Given the description of an element on the screen output the (x, y) to click on. 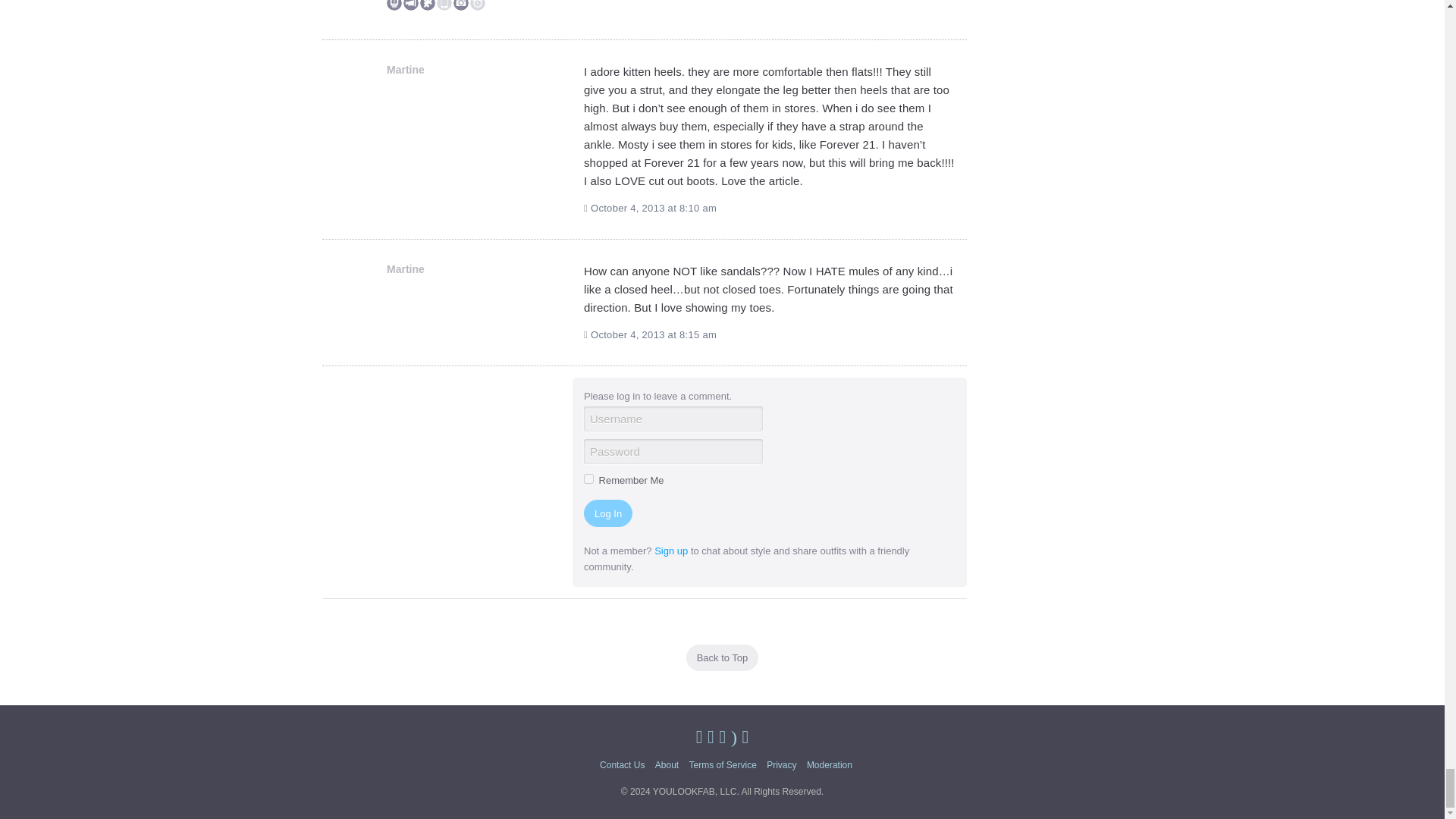
forever (588, 479)
Log In (607, 512)
